Given the description of an element on the screen output the (x, y) to click on. 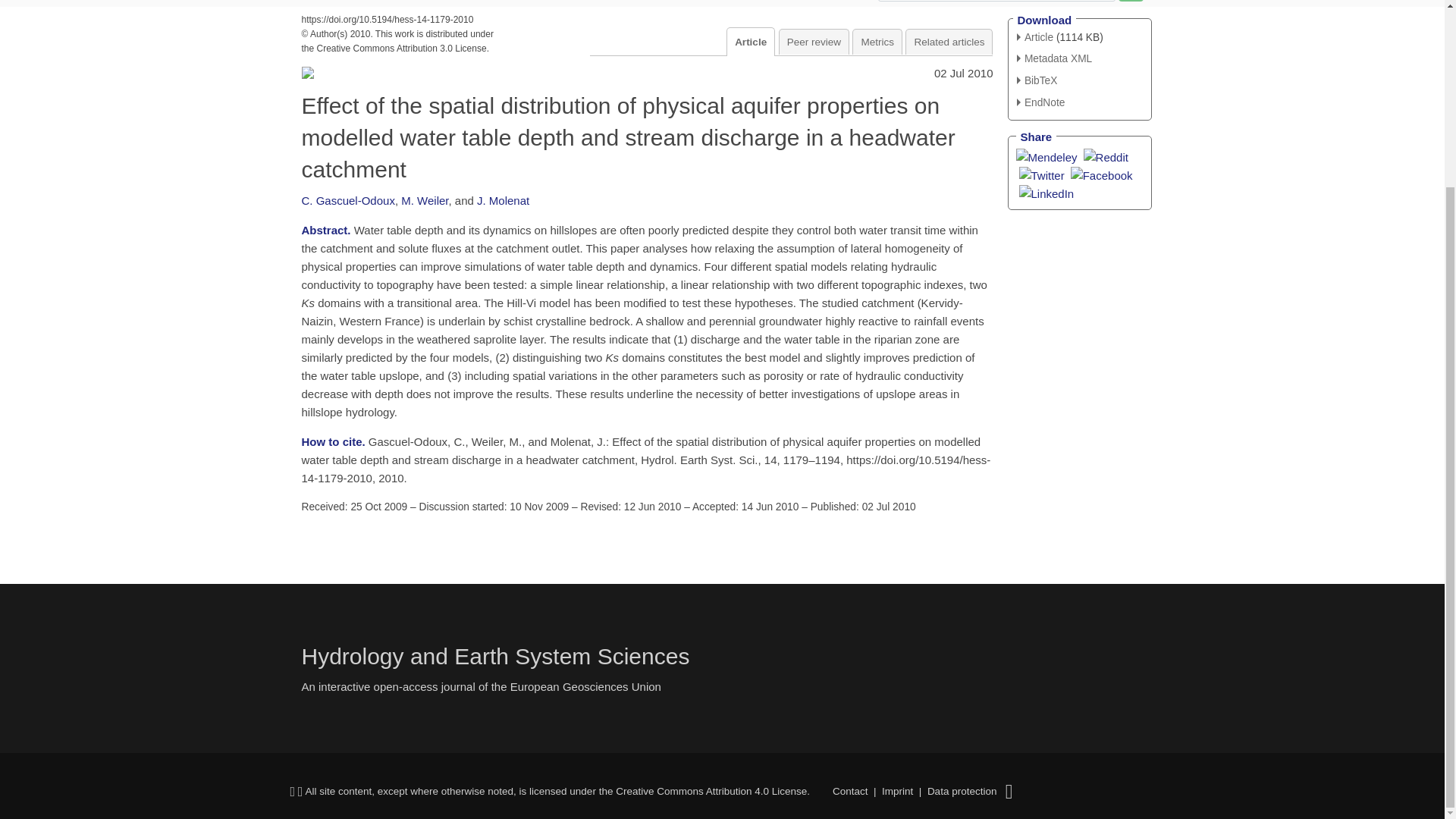
Mendeley (1046, 155)
Reddit (1105, 155)
Facebook (1101, 174)
Twitter (1041, 174)
XML Version (1054, 58)
